Given the description of an element on the screen output the (x, y) to click on. 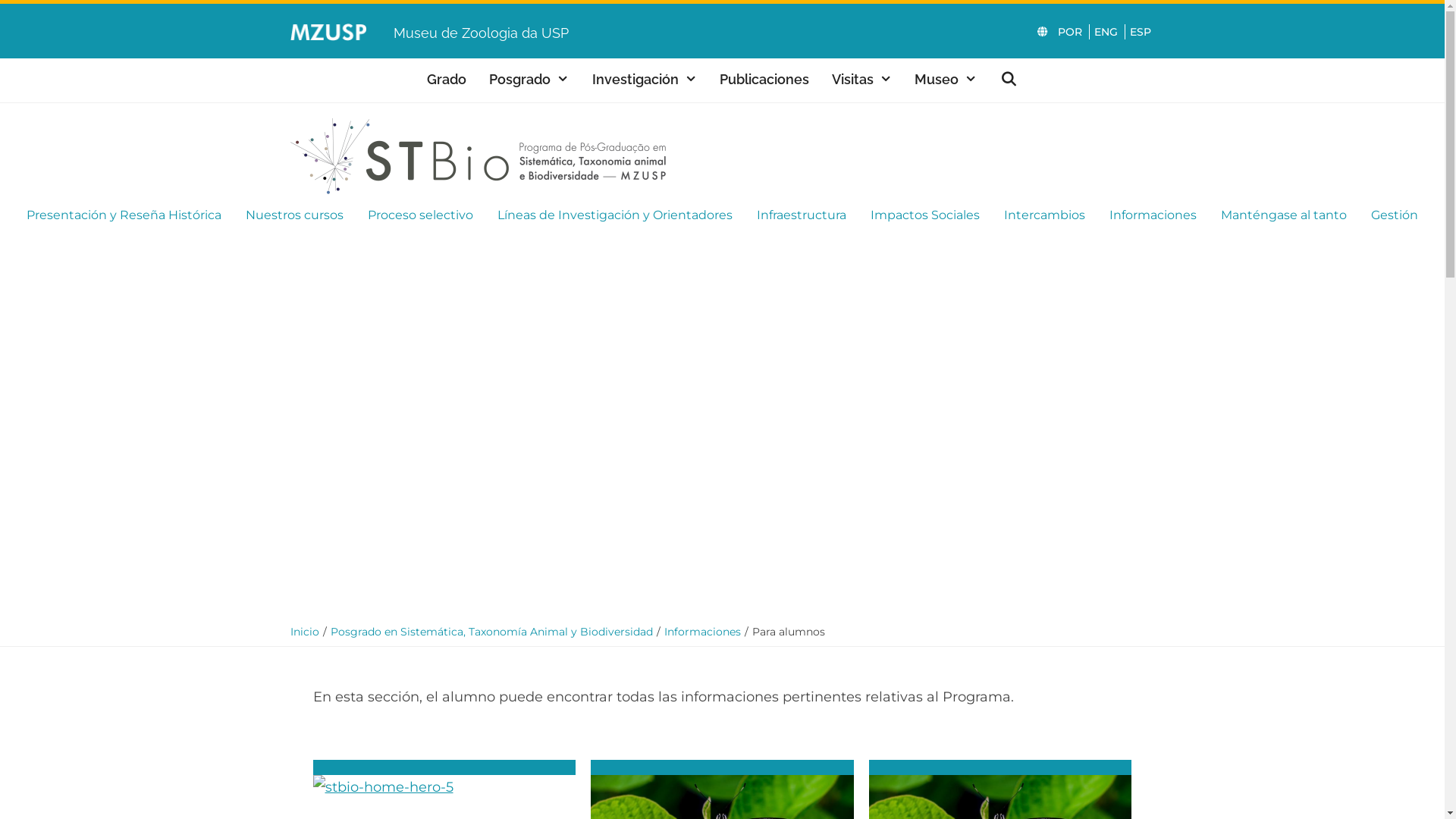
Posgrado Element type: text (528, 80)
Visitas Element type: text (861, 80)
stbio-logo-51 Element type: hover (477, 156)
Proceso selectivo Element type: text (420, 215)
Intercambios Element type: text (1044, 215)
Publicaciones Element type: text (764, 80)
Museo Element type: text (945, 80)
Inicio Element type: text (303, 631)
Infraestructura Element type: text (801, 215)
Nuestros cursos Element type: text (294, 215)
POR Element type: text (1069, 32)
Impactos Sociales Element type: text (924, 215)
Informaciones Element type: text (702, 631)
Grado Element type: text (446, 80)
Informaciones Element type: text (1152, 215)
ENG Element type: text (1104, 32)
ESP Element type: text (1139, 32)
